Given the description of an element on the screen output the (x, y) to click on. 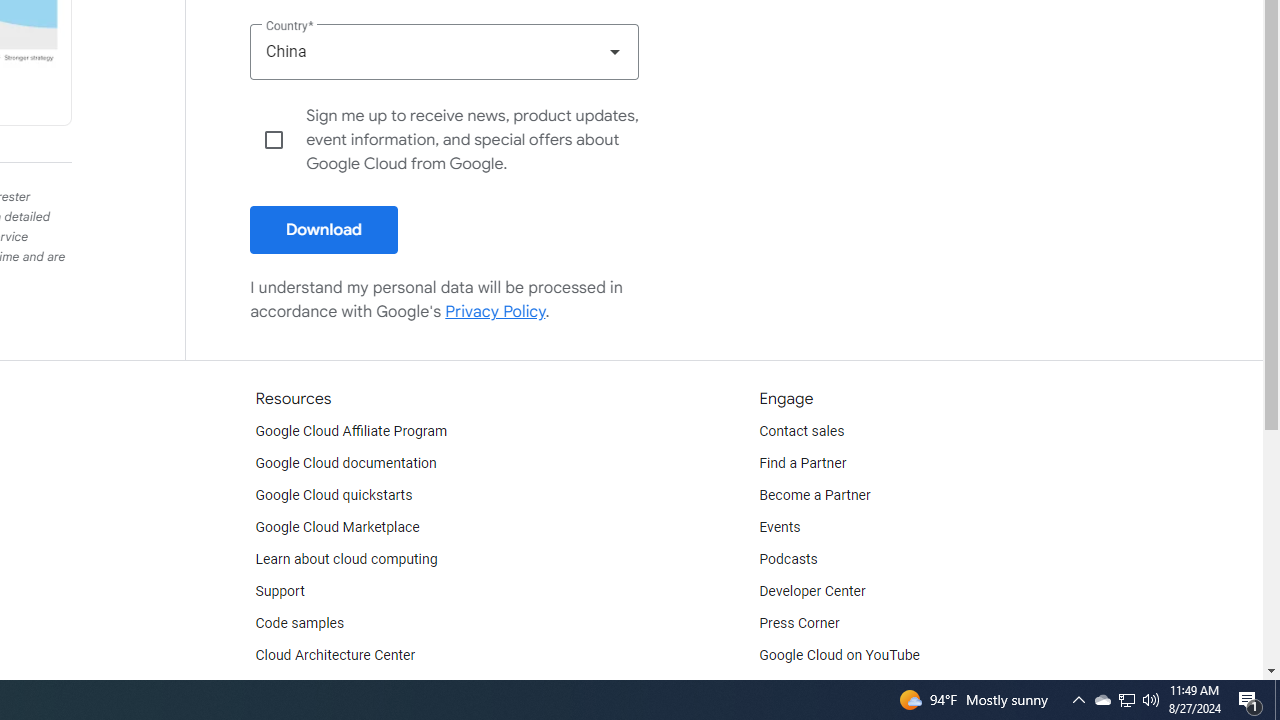
Google Cloud Affiliate Program (351, 431)
Google Cloud Marketplace (336, 527)
Training (279, 687)
Google Cloud Tech on YouTube (856, 687)
Contact sales (801, 431)
Cloud Architecture Center (335, 655)
Country China (444, 51)
